Given the description of an element on the screen output the (x, y) to click on. 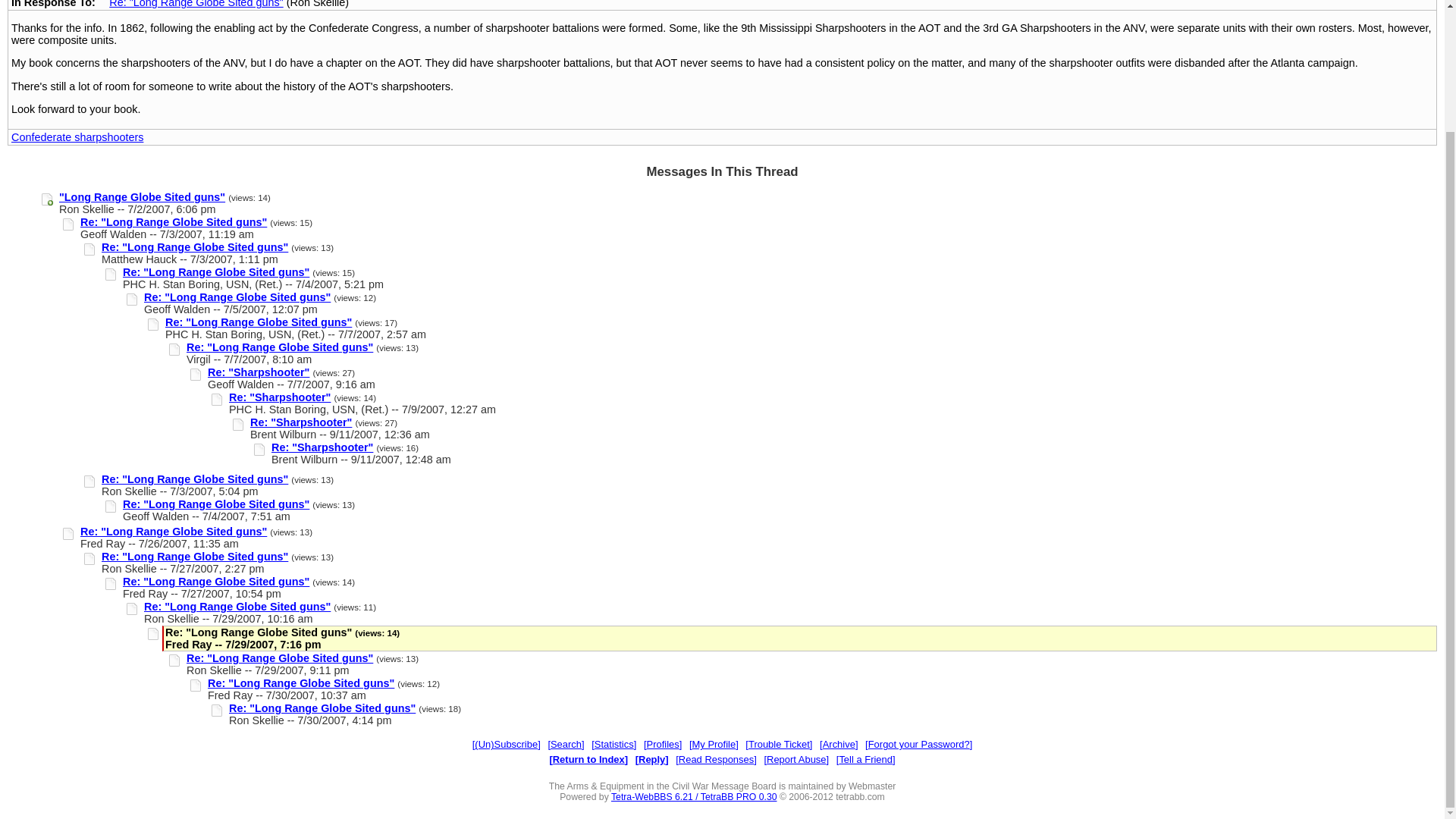
Re: "Long Range Globe Sited guns" (279, 657)
Re: "Long Range Globe Sited guns" (215, 581)
Re: "Long Range Globe Sited guns" (321, 707)
Search (565, 744)
Re: "Long Range Globe Sited guns" (215, 272)
Re: "Long Range Globe Sited guns" (237, 606)
"Long Range Globe Sited guns" (142, 196)
Re: "Long Range Globe Sited guns" (301, 683)
Re: "Long Range Globe Sited guns" (173, 531)
Re: "Long Range Globe Sited guns" (237, 297)
